Given the description of an element on the screen output the (x, y) to click on. 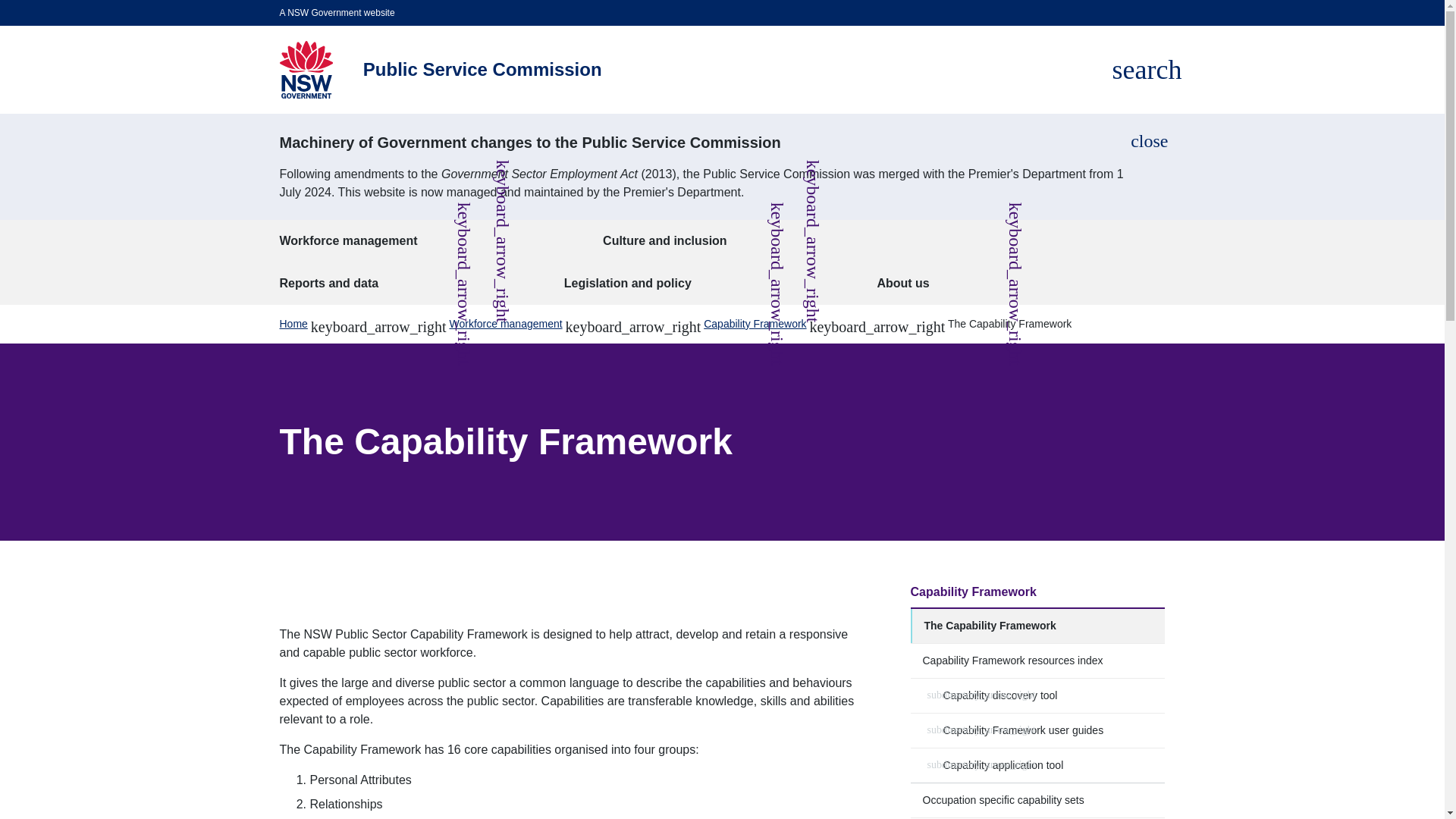
NSW Government (305, 69)
